Given the description of an element on the screen output the (x, y) to click on. 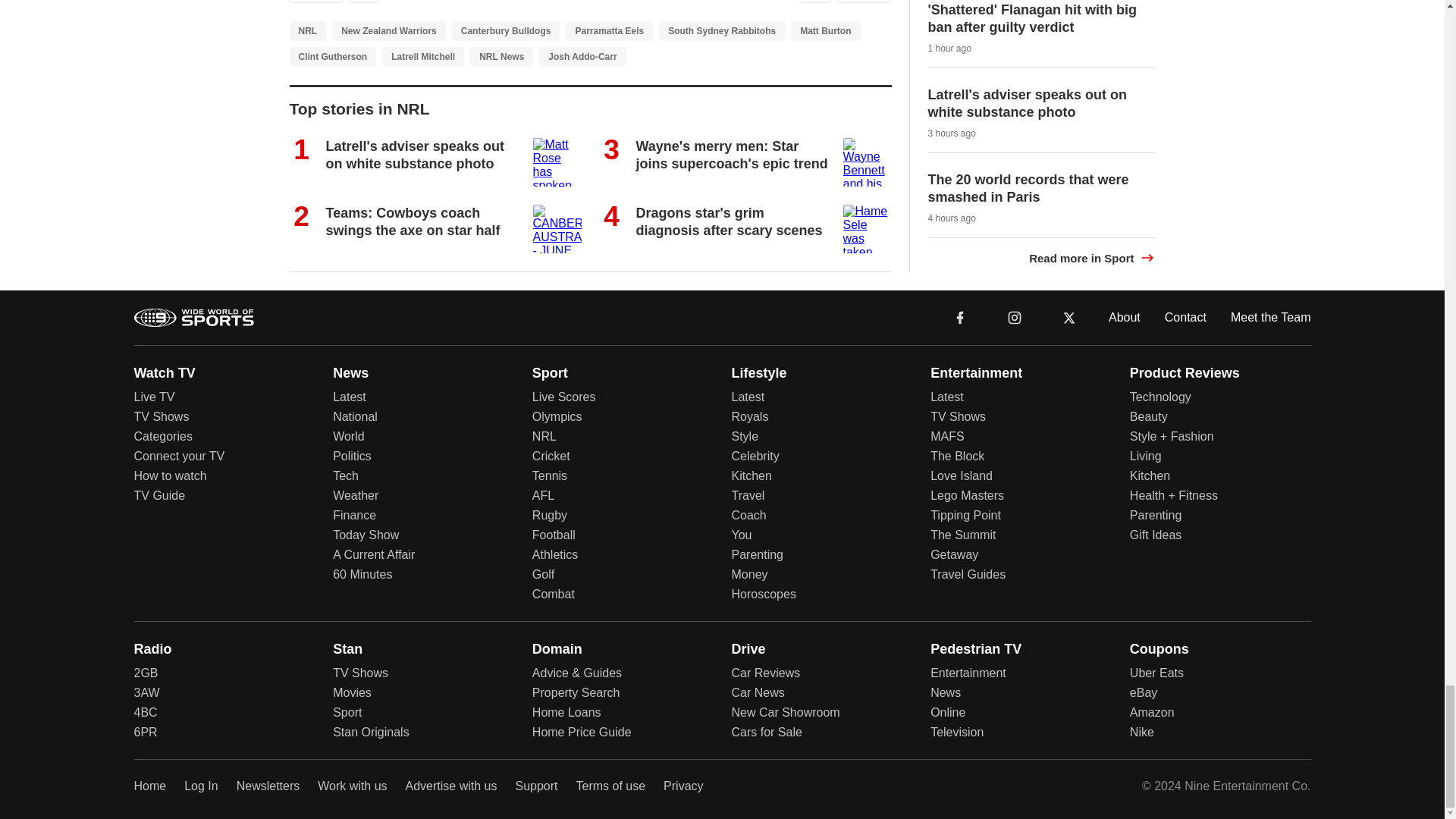
facebook (959, 316)
instagram (1013, 316)
x (1069, 316)
